Given the description of an element on the screen output the (x, y) to click on. 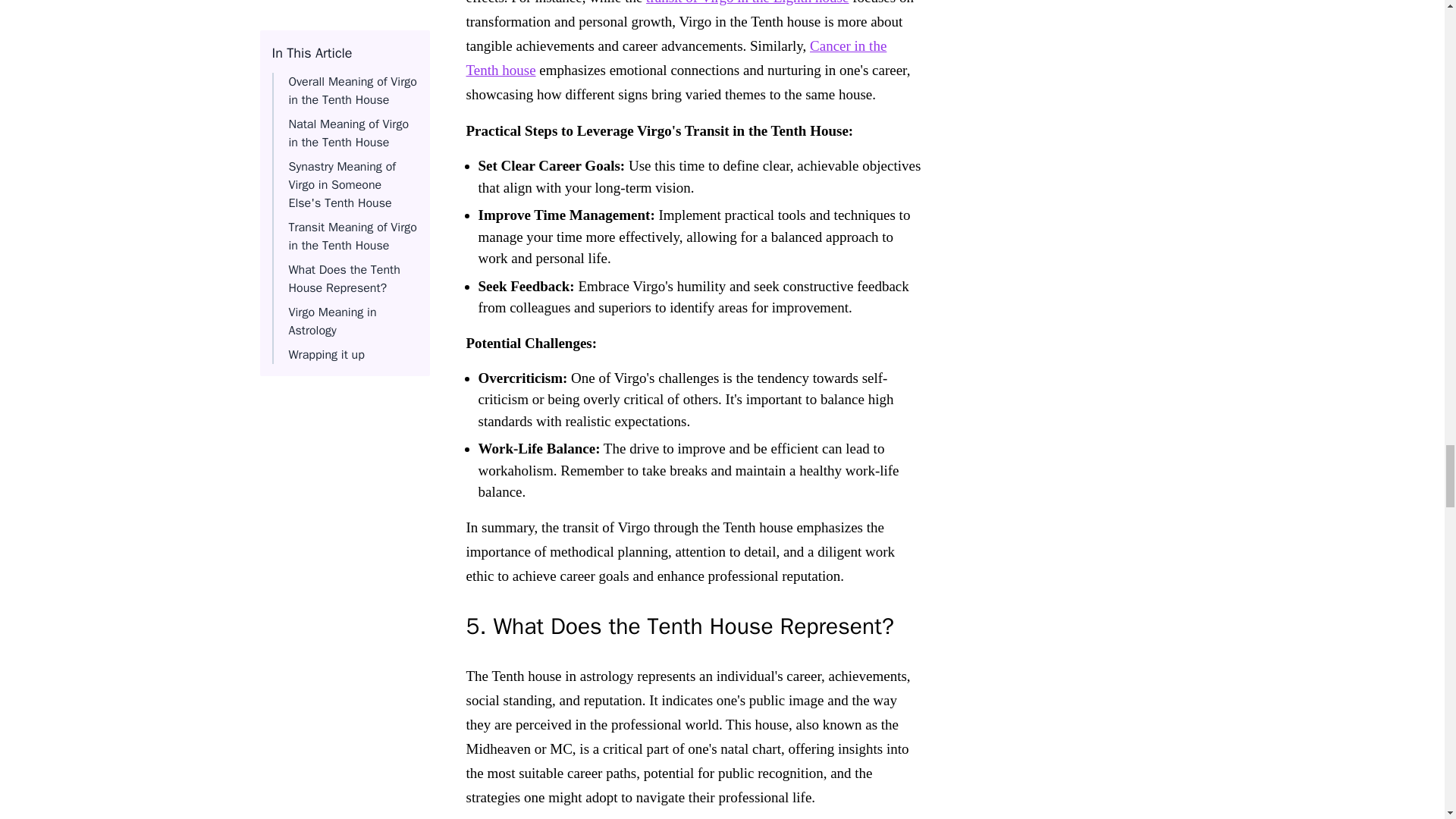
Cancer in the Tenth house (675, 57)
transit of Virgo in the Eighth house (747, 2)
